Given the description of an element on the screen output the (x, y) to click on. 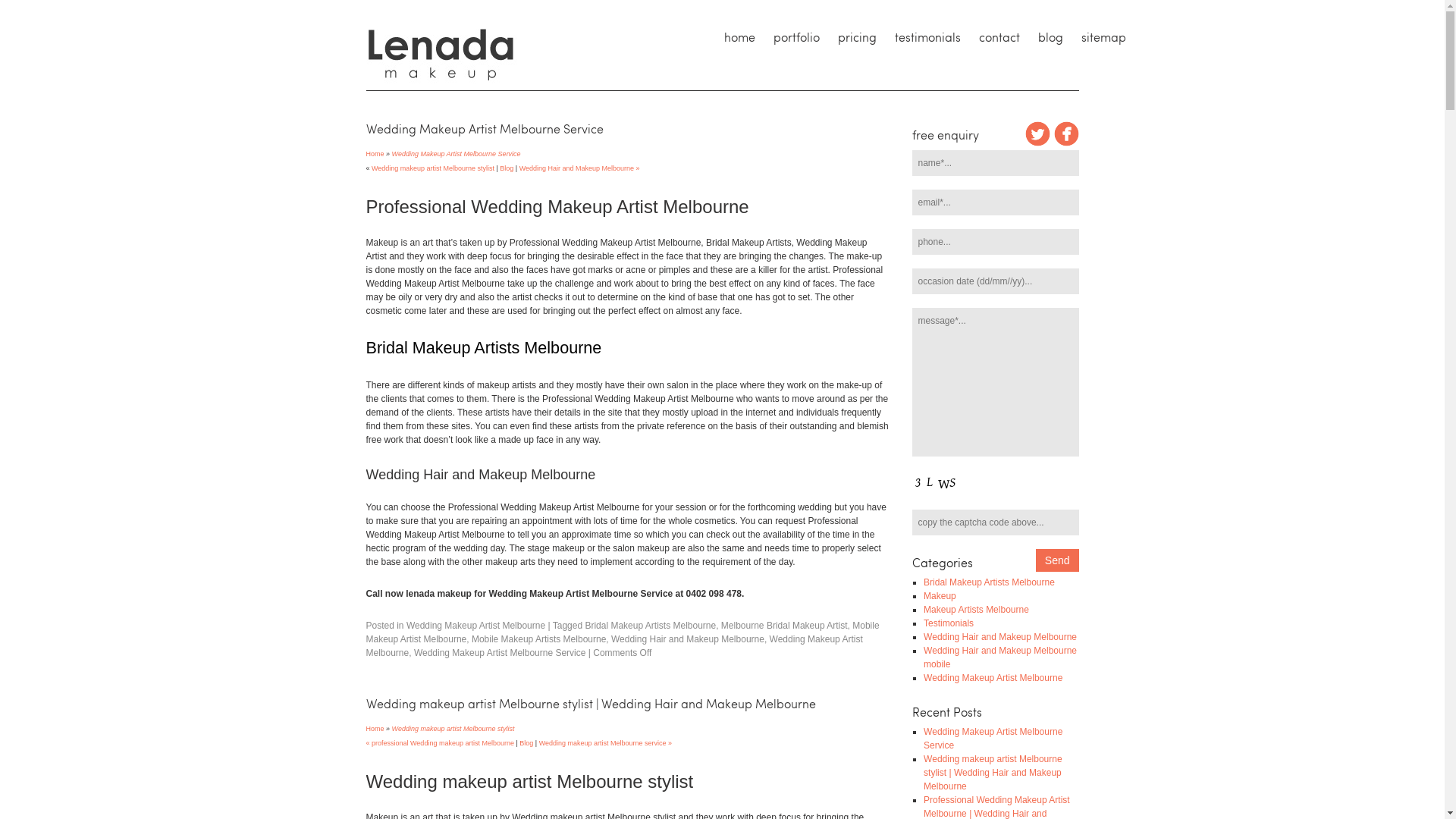
Makeup Artists Melbourne Element type: text (976, 609)
contact Element type: text (998, 36)
Wedding Makeup Artist Melbourne Service Element type: text (456, 153)
sitemap Element type: text (1103, 36)
Mobile Makeup Artist Melbourne Element type: text (621, 632)
Testimonials Element type: text (948, 623)
blog Element type: text (1049, 36)
Wedding Makeup Artist Melbourne Service Element type: text (500, 652)
Wedding makeup artist Melbourne stylist Element type: text (432, 168)
Wedding Makeup Artist Melbourne Element type: text (992, 677)
testimonials Element type: text (927, 36)
Bridal Makeup Artists Melbourne Element type: text (649, 625)
Bridal Makeup Artists Melbourne Element type: text (988, 582)
Wedding Hair and Makeup Melbourne Element type: text (687, 638)
Blog Element type: text (526, 742)
Wedding Makeup Artist Melbourne Service Element type: text (992, 738)
Melbourne Bridal Makeup Artist Element type: text (784, 625)
Send Element type: text (1057, 560)
Blog Element type: text (506, 168)
Wedding Hair and Makeup Melbourne mobile Element type: text (999, 657)
Wedding Makeup Artist Melbourne Element type: text (613, 645)
Wedding makeup artist Melbourne stylist Element type: text (453, 728)
Makeup Element type: text (939, 595)
Wedding Makeup Artist Melbourne Service Element type: text (483, 128)
Home Element type: text (374, 727)
Wedding Hair and Makeup Melbourne Element type: text (999, 636)
pricing Element type: text (856, 36)
Wedding Makeup Artist Melbourne Element type: text (475, 625)
Home Element type: text (374, 152)
Mobile Makeup Artists Melbourne Element type: text (538, 638)
home Element type: text (738, 36)
portfolio Element type: text (796, 36)
